Given the description of an element on the screen output the (x, y) to click on. 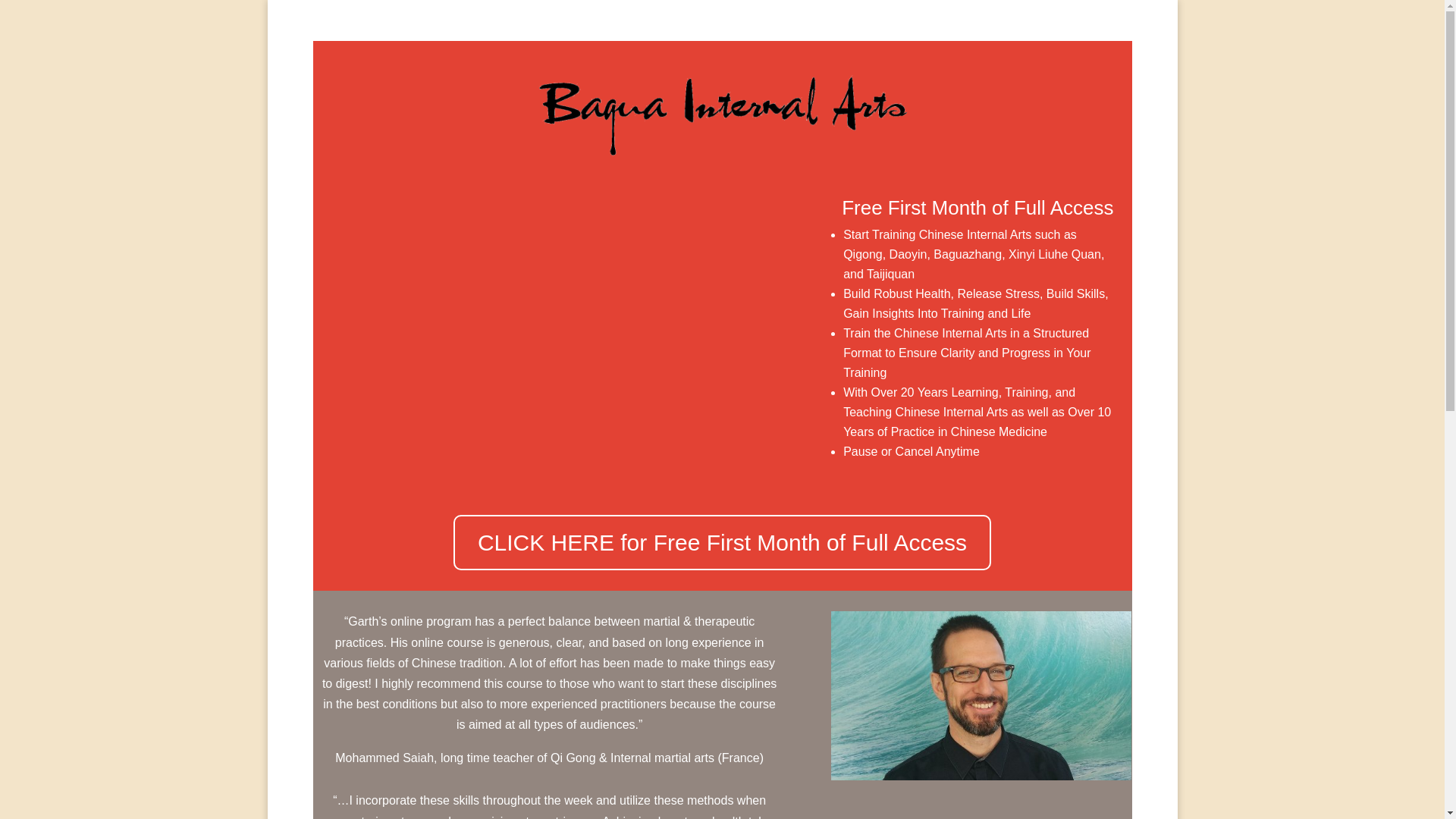
BGIA branded text transparent 01 (721, 109)
CLICK HERE for Free First Month of Full Access (721, 542)
